Given the description of an element on the screen output the (x, y) to click on. 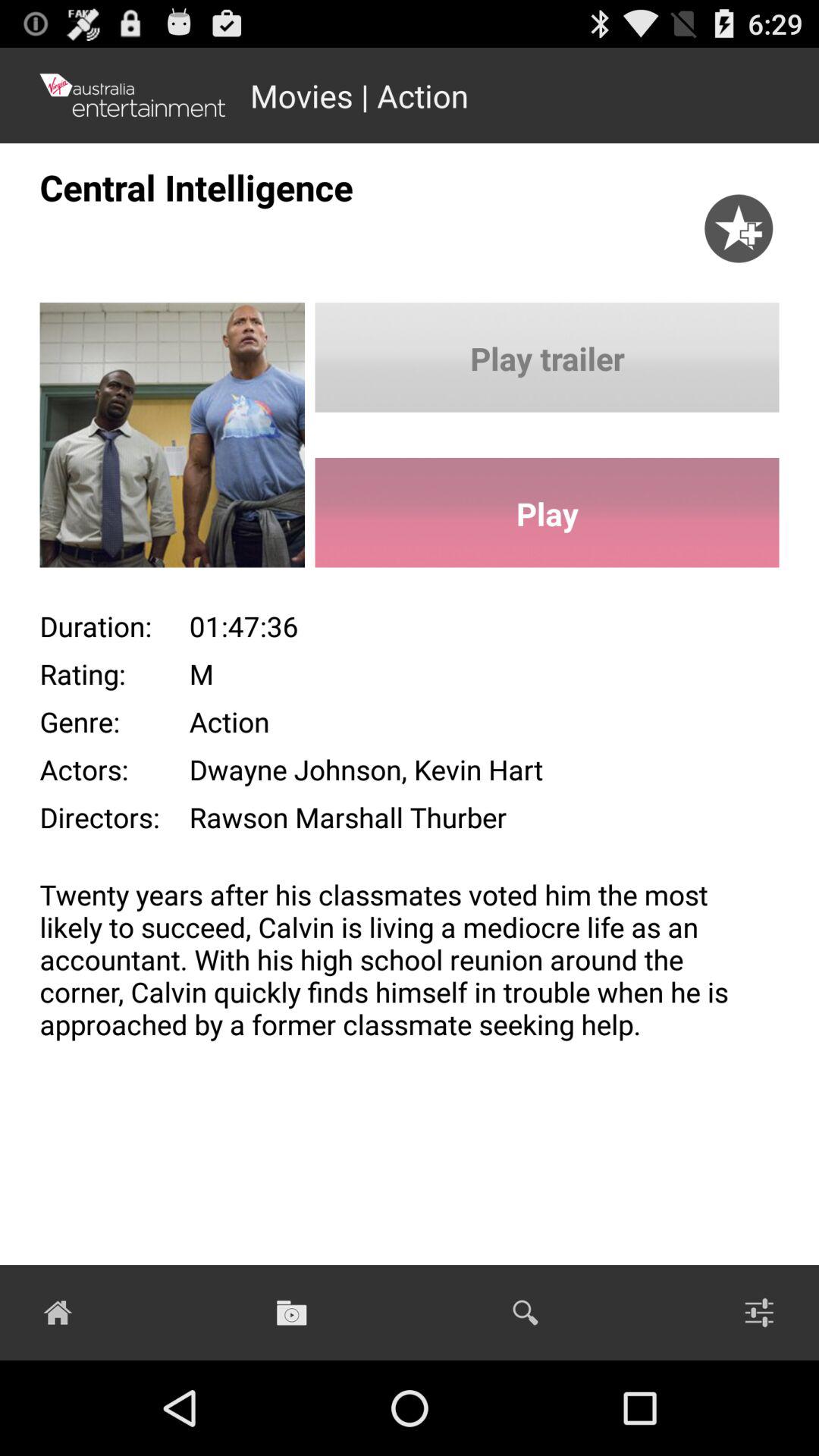
select play trailer icon (547, 357)
